Given the description of an element on the screen output the (x, y) to click on. 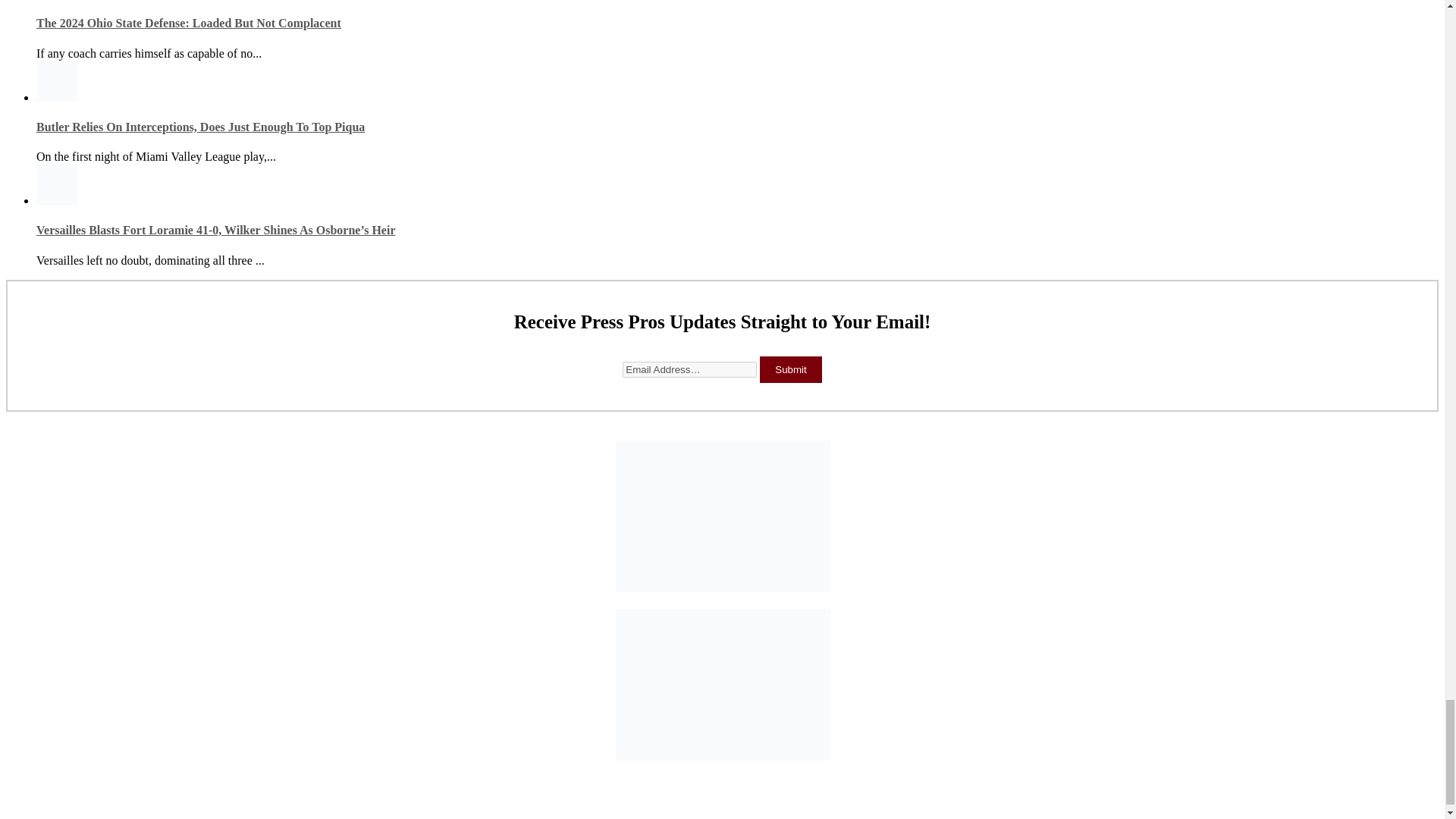
The 2024 Ohio State Defense: Loaded But Not Complacent (188, 22)
Submit (790, 369)
The 2024 Ohio State Defense: Loaded But Not Complacent (188, 22)
